Given the description of an element on the screen output the (x, y) to click on. 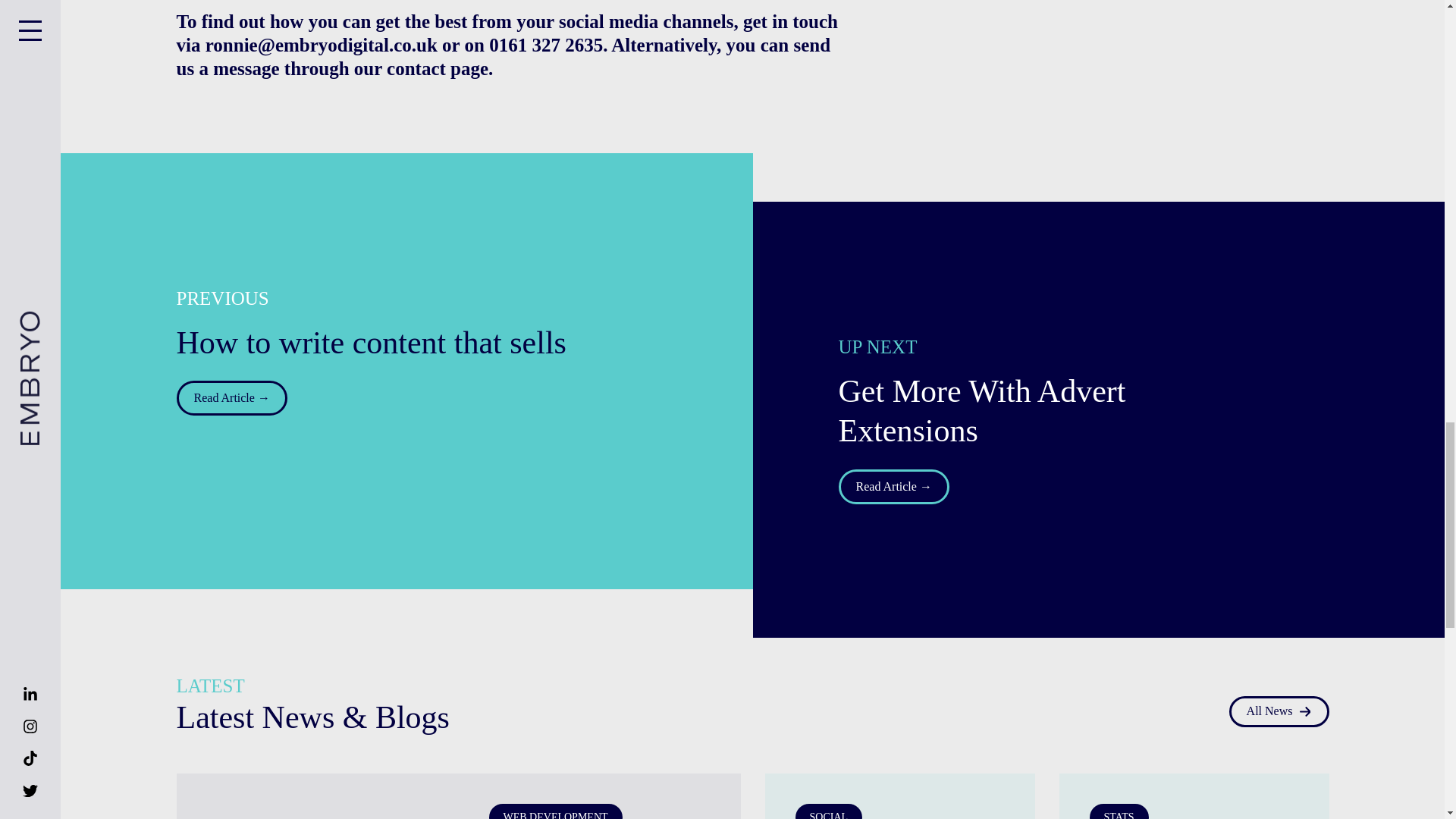
SOCIAL (827, 811)
How to write content that sells (372, 342)
contact (418, 68)
All News (1278, 711)
WEB DEVELOPMENT (554, 811)
STATS (1118, 811)
Get More With Advert Extensions (1034, 411)
